Given the description of an element on the screen output the (x, y) to click on. 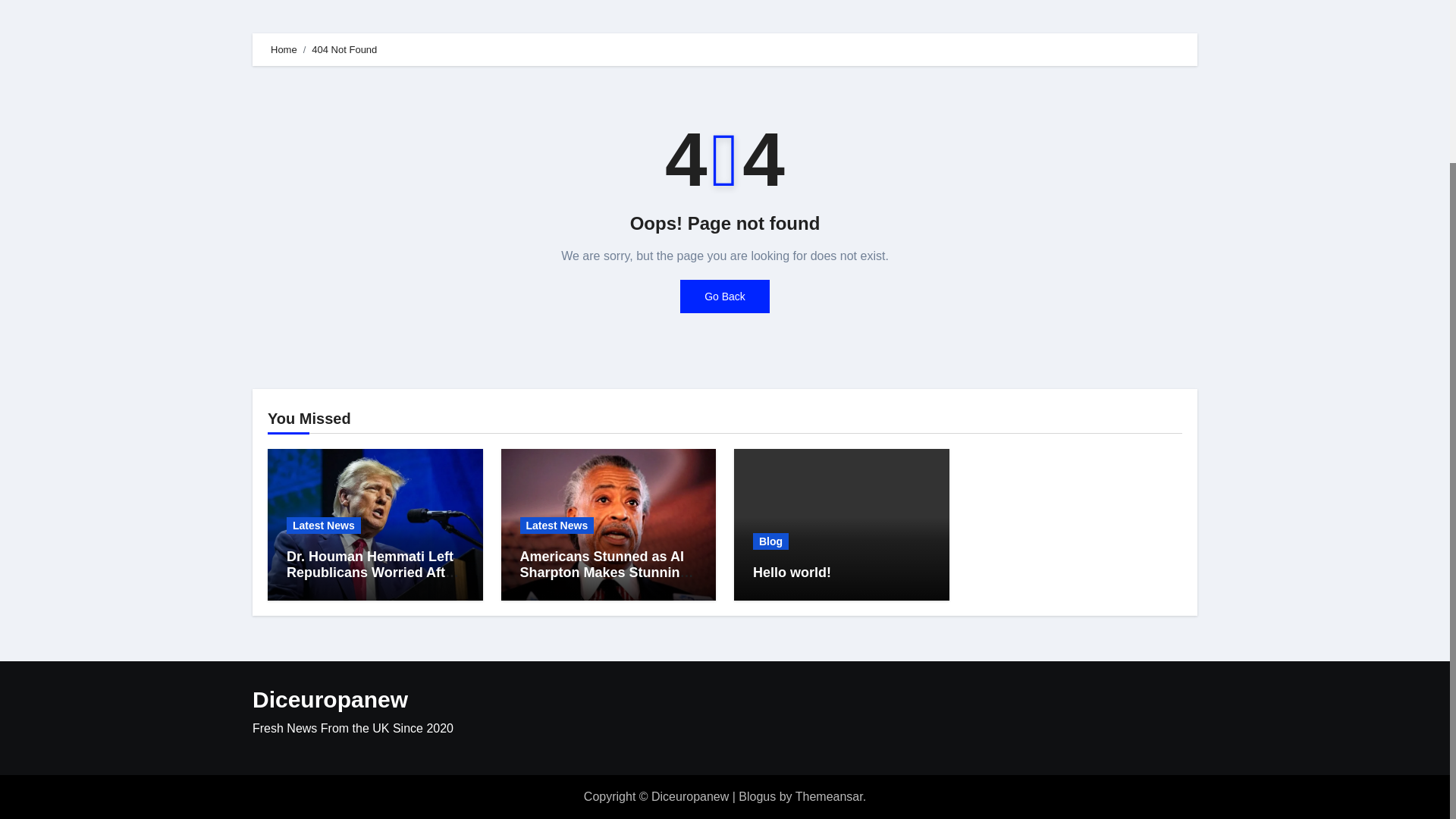
Latest News (556, 524)
Diceuropanew (329, 699)
Hello world! (791, 572)
Latest News (323, 524)
Blogus (757, 796)
Go Back (724, 296)
Blog (770, 541)
Home (283, 49)
Themeansar (828, 796)
Permalink to: Hello world! (791, 572)
